Given the description of an element on the screen output the (x, y) to click on. 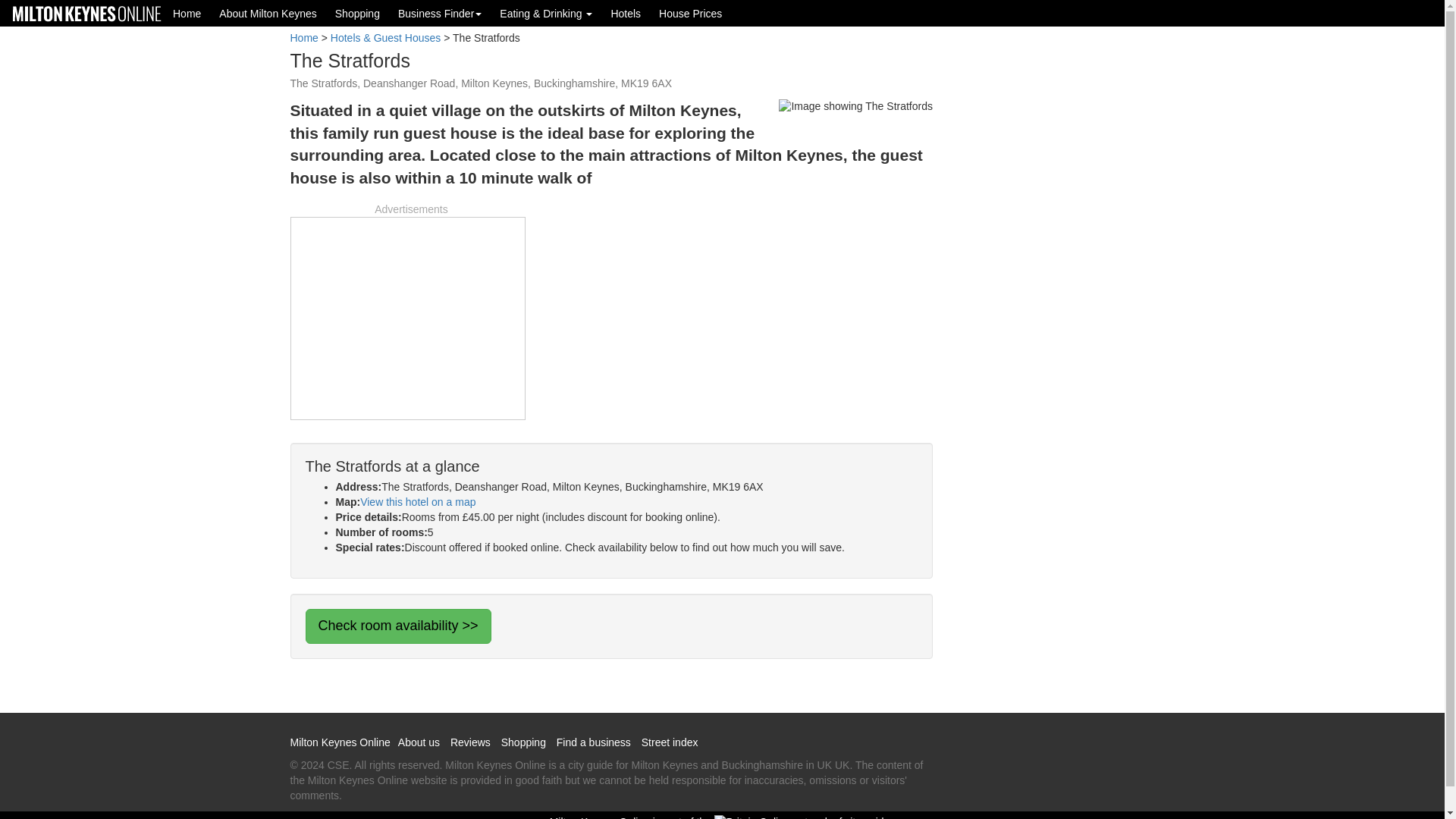
House Prices (689, 12)
Shopping (357, 12)
About Milton Keynes (266, 12)
View this hotel on a map (417, 501)
Home (186, 12)
Business Finder (439, 12)
Home (303, 37)
Hotels (625, 12)
